Given the description of an element on the screen output the (x, y) to click on. 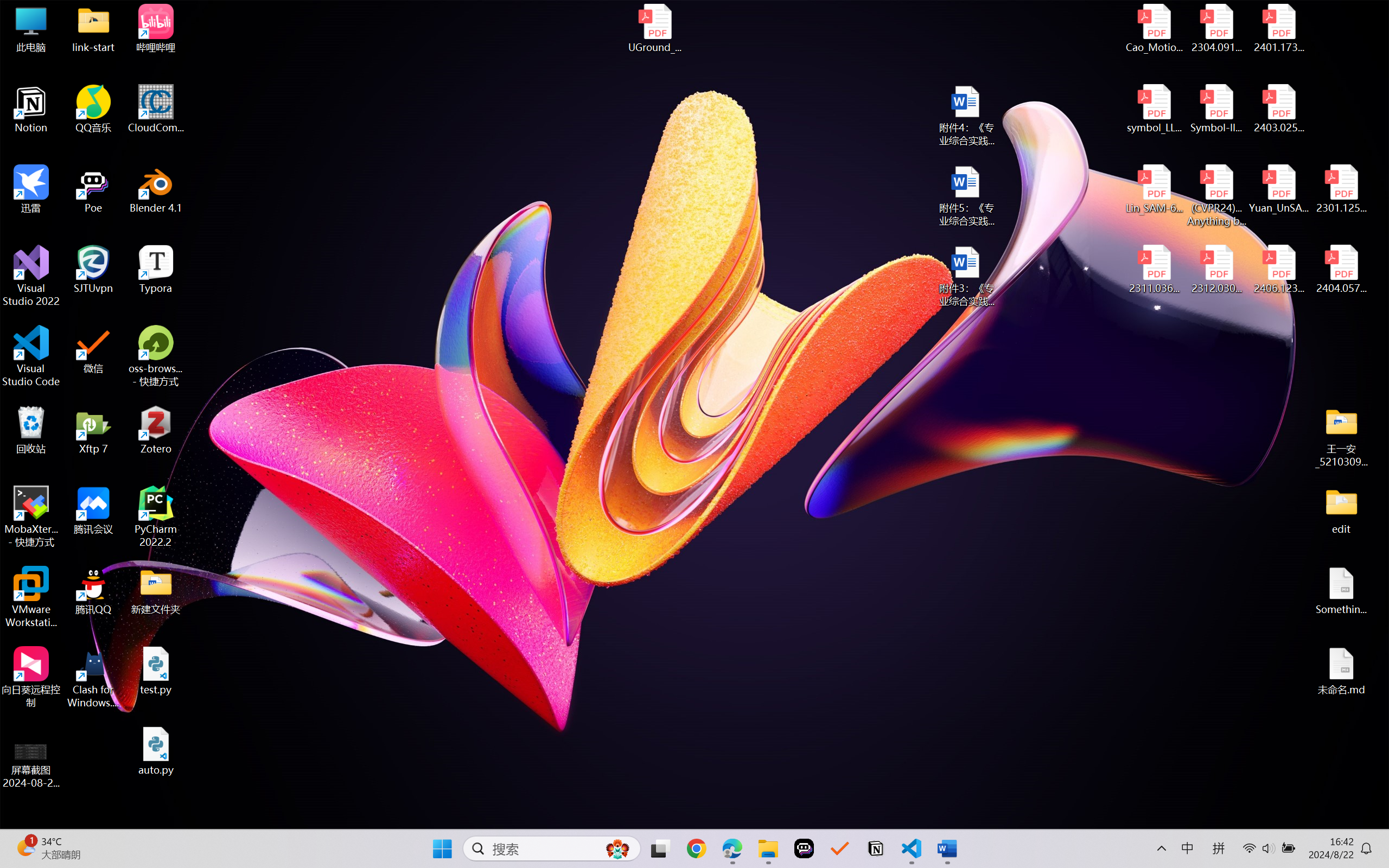
Xftp 7 (93, 430)
VMware Workstation Pro (31, 597)
SJTUvpn (93, 269)
(CVPR24)Matching Anything by Segmenting Anything.pdf (1216, 195)
2406.12373v2.pdf (1278, 269)
edit (1340, 510)
